Given the description of an element on the screen output the (x, y) to click on. 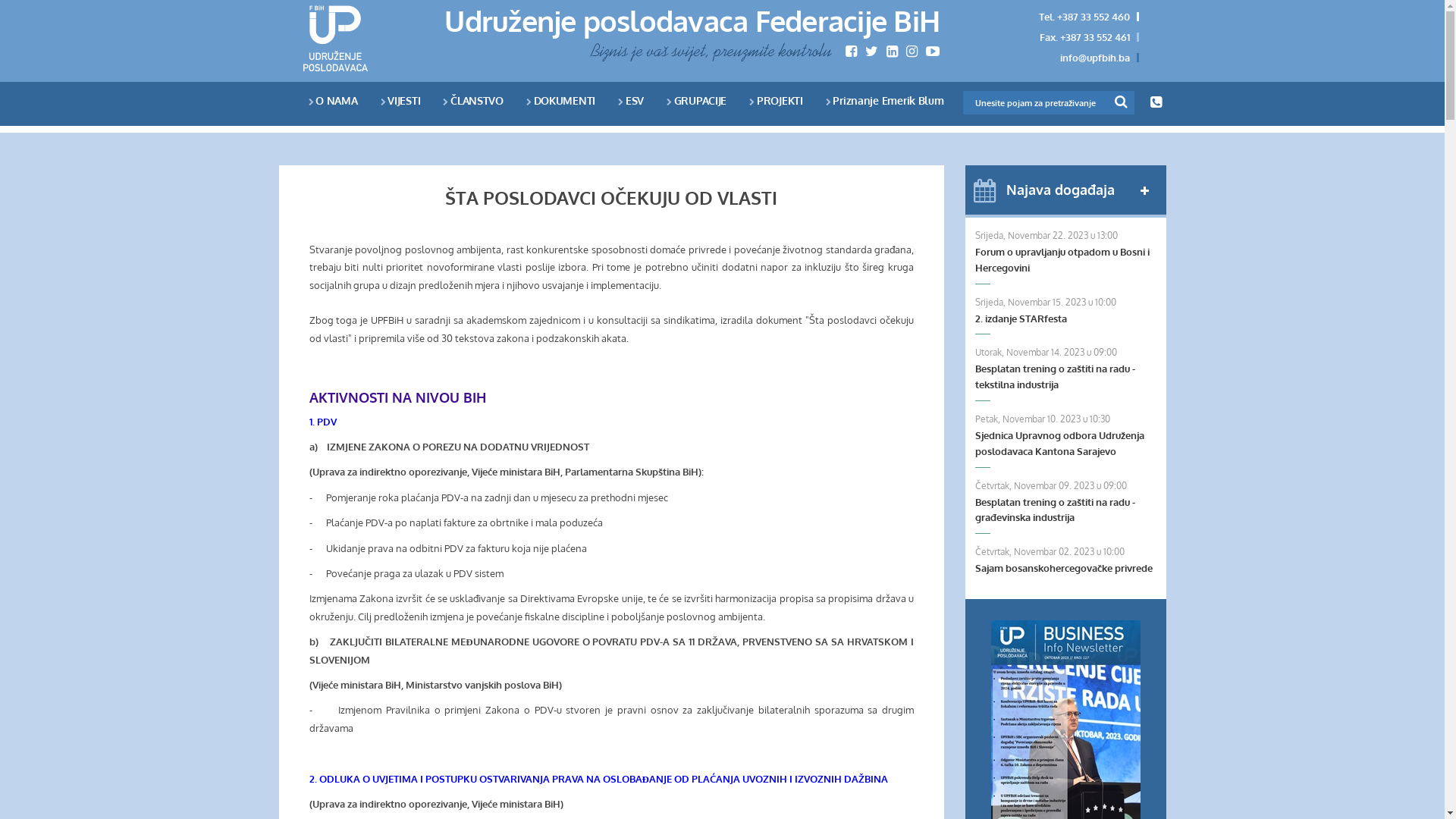
VIJESTI Element type: text (400, 100)
Sve najave Element type: hover (1144, 190)
ESV Element type: text (630, 100)
Newsletter broj 127 - Oktobar 2023.  - BIN Element type: hover (1065, 715)
2. izdanje STARfesta Element type: text (1065, 318)
Priznanje Emerik Blum Element type: text (884, 100)
Forum o upravljanju otpadom u Bosni i Hercegovini Element type: text (1065, 260)
1. PDV Element type: text (322, 421)
DOKUMENTI Element type: text (560, 100)
O NAMA Element type: text (332, 100)
info@upfbih.ba Element type: text (1094, 57)
PROJEKTI Element type: text (776, 100)
